Given the description of an element on the screen output the (x, y) to click on. 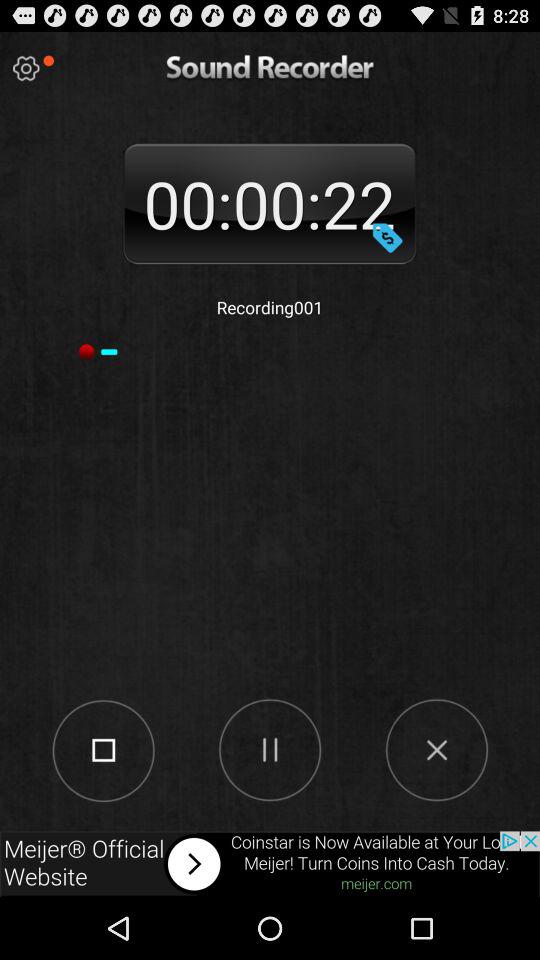
see the price (387, 237)
